Given the description of an element on the screen output the (x, y) to click on. 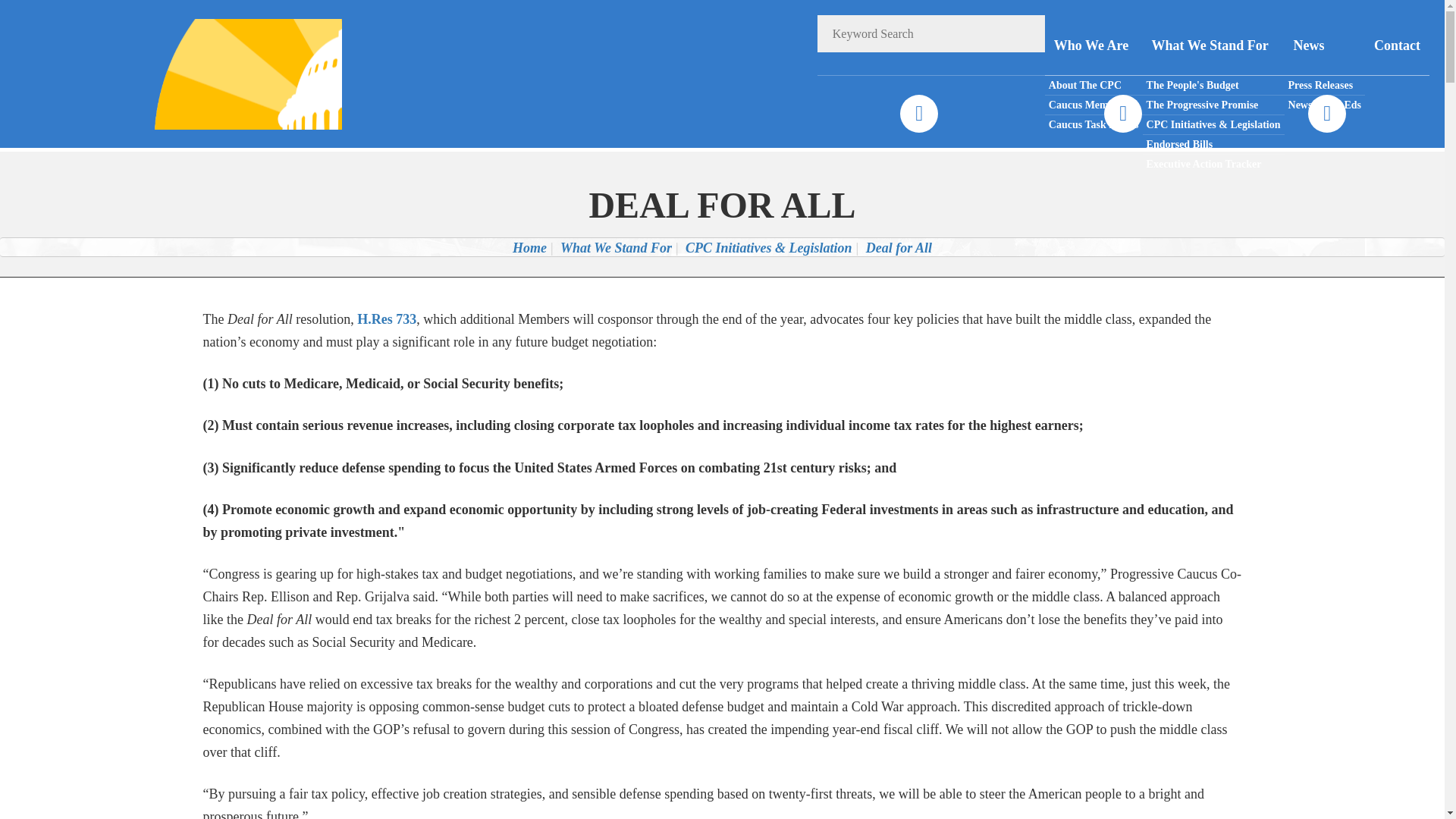
What We Stand For (1213, 45)
About The CPC (1093, 85)
What We Stand For (615, 247)
Home (529, 247)
The People's Budget (1213, 85)
Endorsed Bills (1213, 144)
Caucus Members (1093, 105)
CONGRESSIONAL PROGRESSIVE CAUCUS (228, 73)
Twitter (1122, 113)
Contact (1397, 45)
DEAL FOR ALL (722, 205)
Deal for All (898, 247)
Caucus Task Forces (1093, 124)
H.Res 733 (386, 319)
Who We Are (1093, 45)
